Given the description of an element on the screen output the (x, y) to click on. 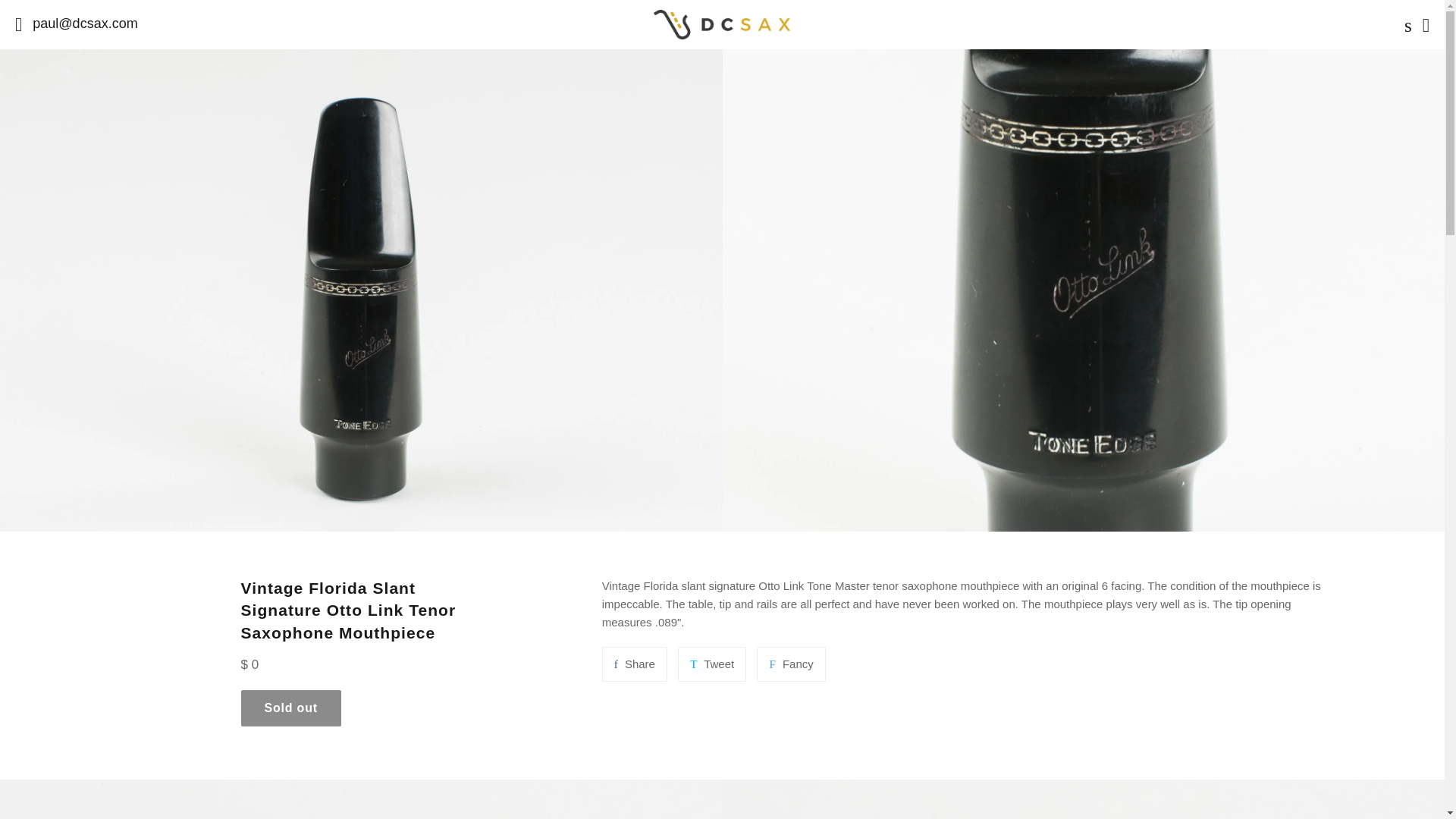
Menu (18, 24)
Fancy (791, 664)
Share (634, 664)
Search (1404, 23)
Sold out (290, 708)
Tweet (711, 664)
Cart (1426, 23)
